Given the description of an element on the screen output the (x, y) to click on. 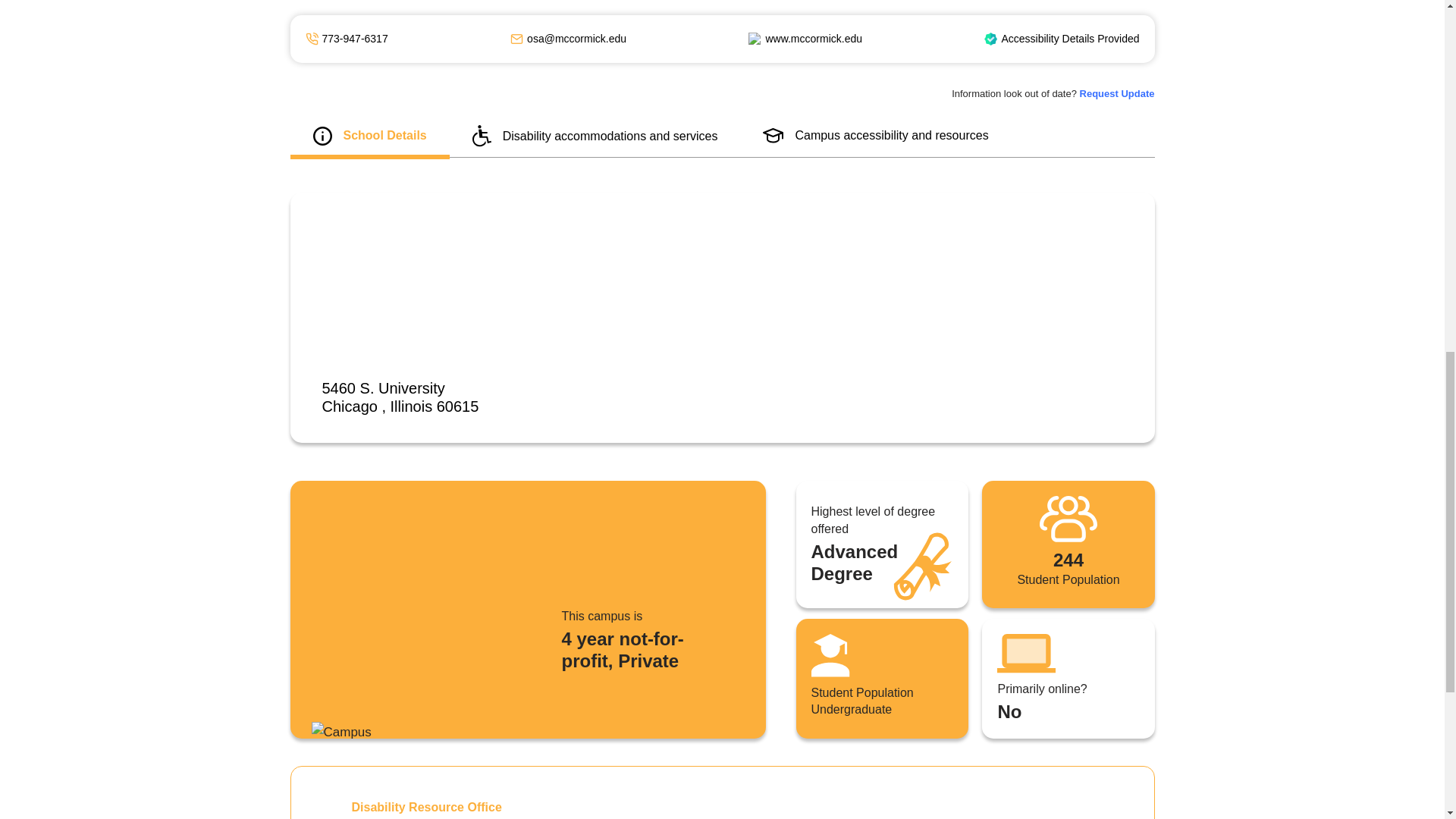
773-947-6317 (354, 39)
Request Update (1117, 93)
www.mccormick.edu (813, 39)
